Given the description of an element on the screen output the (x, y) to click on. 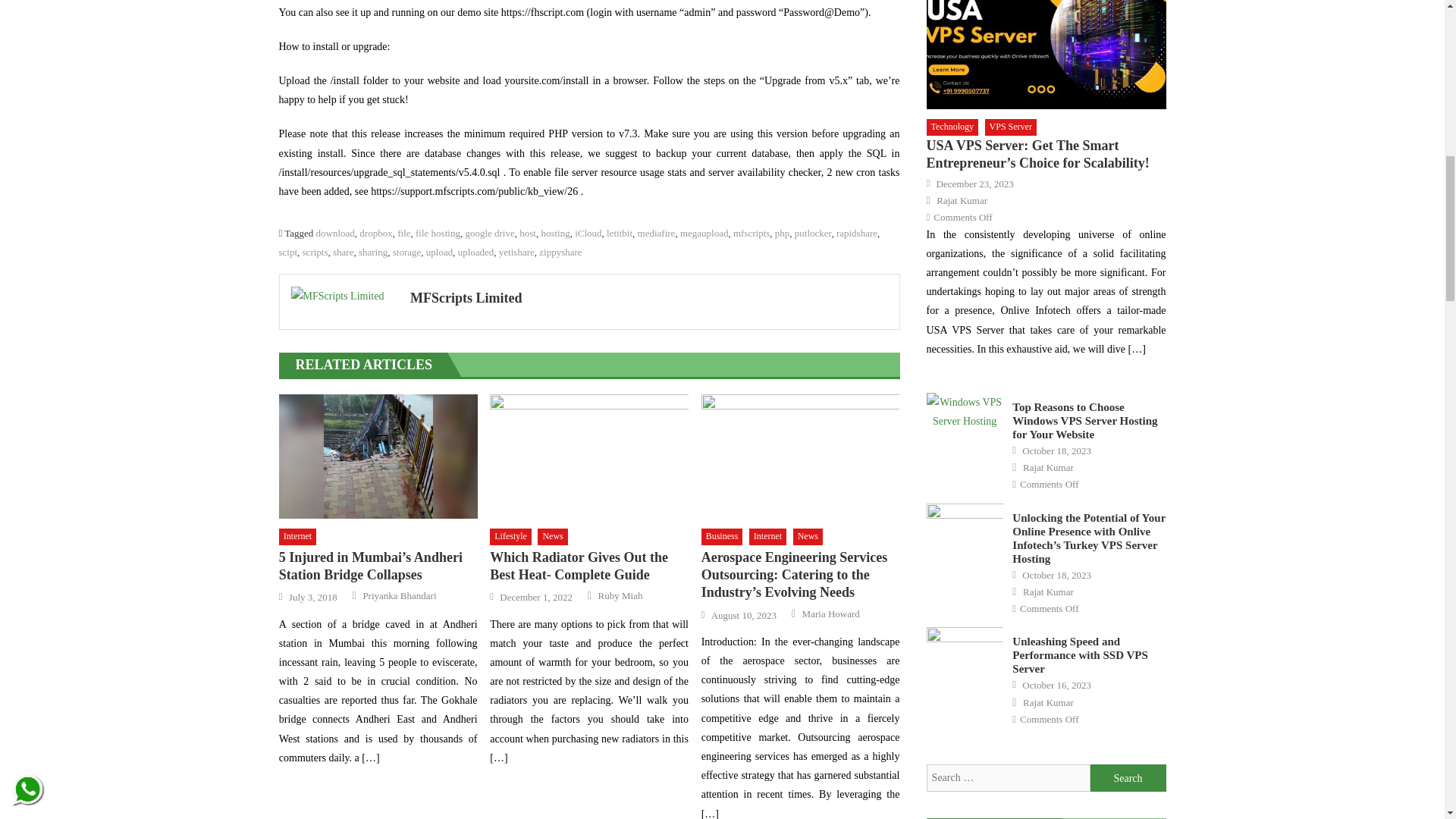
Which Radiator Gives Out the Best Heat- Complete Guide (588, 455)
Search (1128, 777)
Search (1128, 777)
Unleashing Speed and Performance with SSD VPS Server (964, 654)
